Given the description of an element on the screen output the (x, y) to click on. 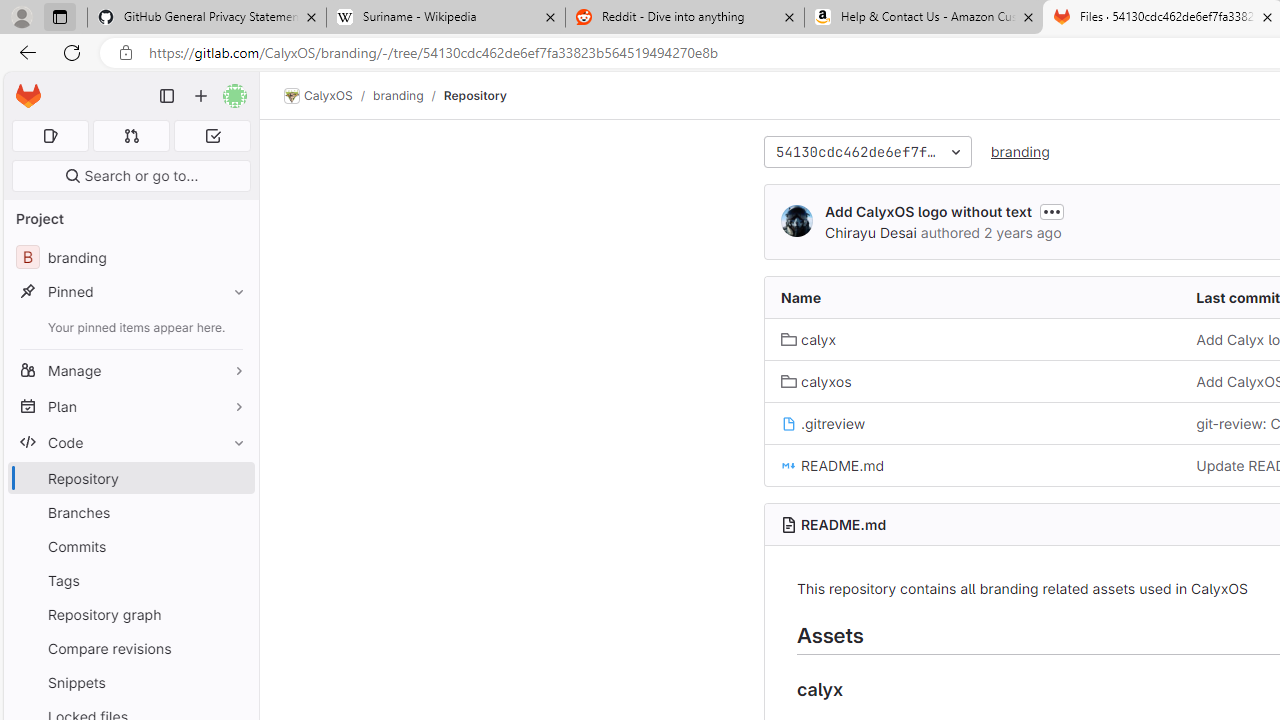
Help & Contact Us - Amazon Customer Service (924, 17)
CalyxOS (318, 96)
Manage (130, 370)
Snippets (130, 682)
Plan (130, 406)
54130cdc462de6ef7fa33823b564519494270e8b (867, 151)
Snippets (130, 682)
Repository graph (130, 614)
